Given the description of an element on the screen output the (x, y) to click on. 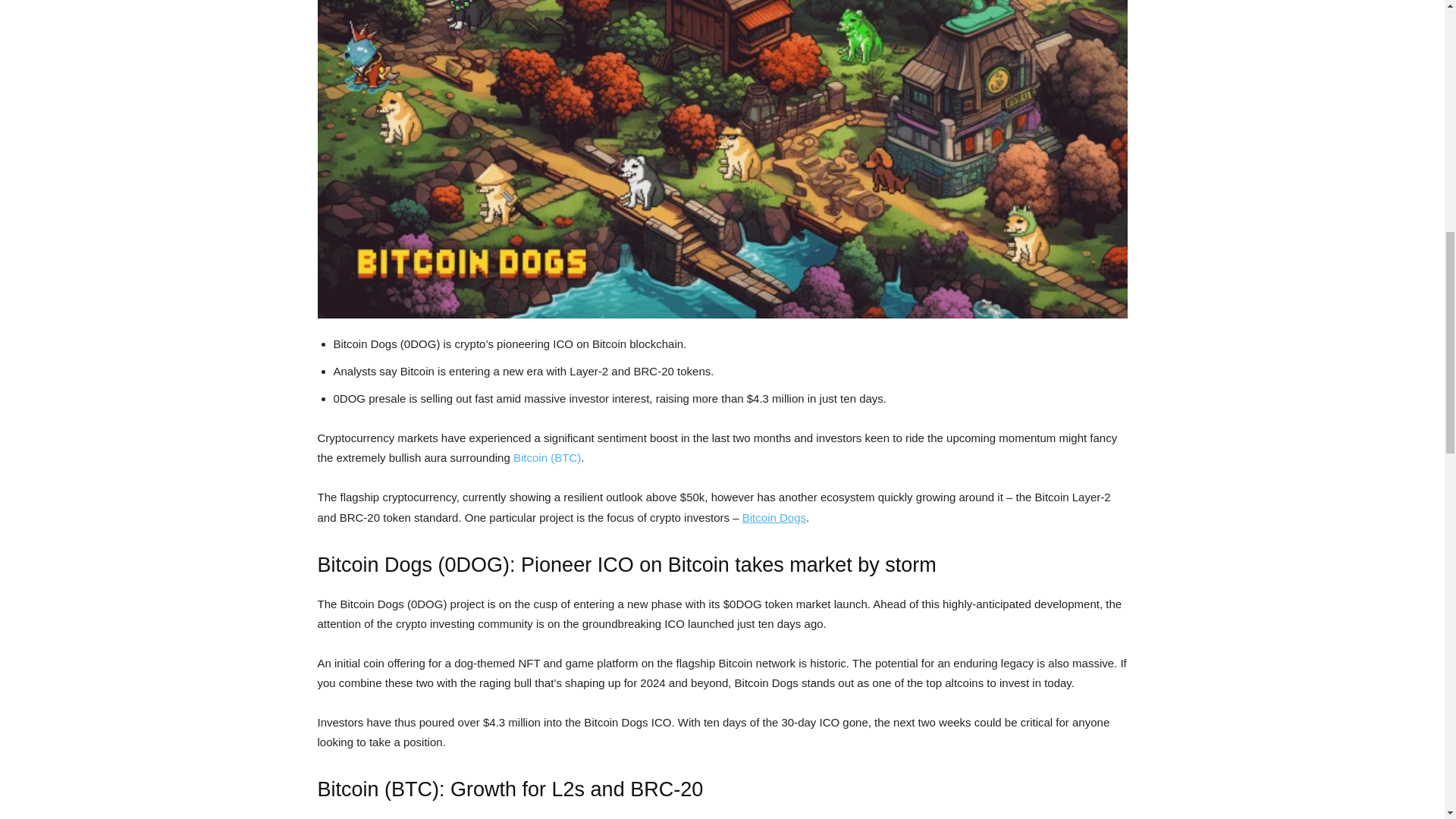
Bitcoin Dogs (774, 517)
